Given the description of an element on the screen output the (x, y) to click on. 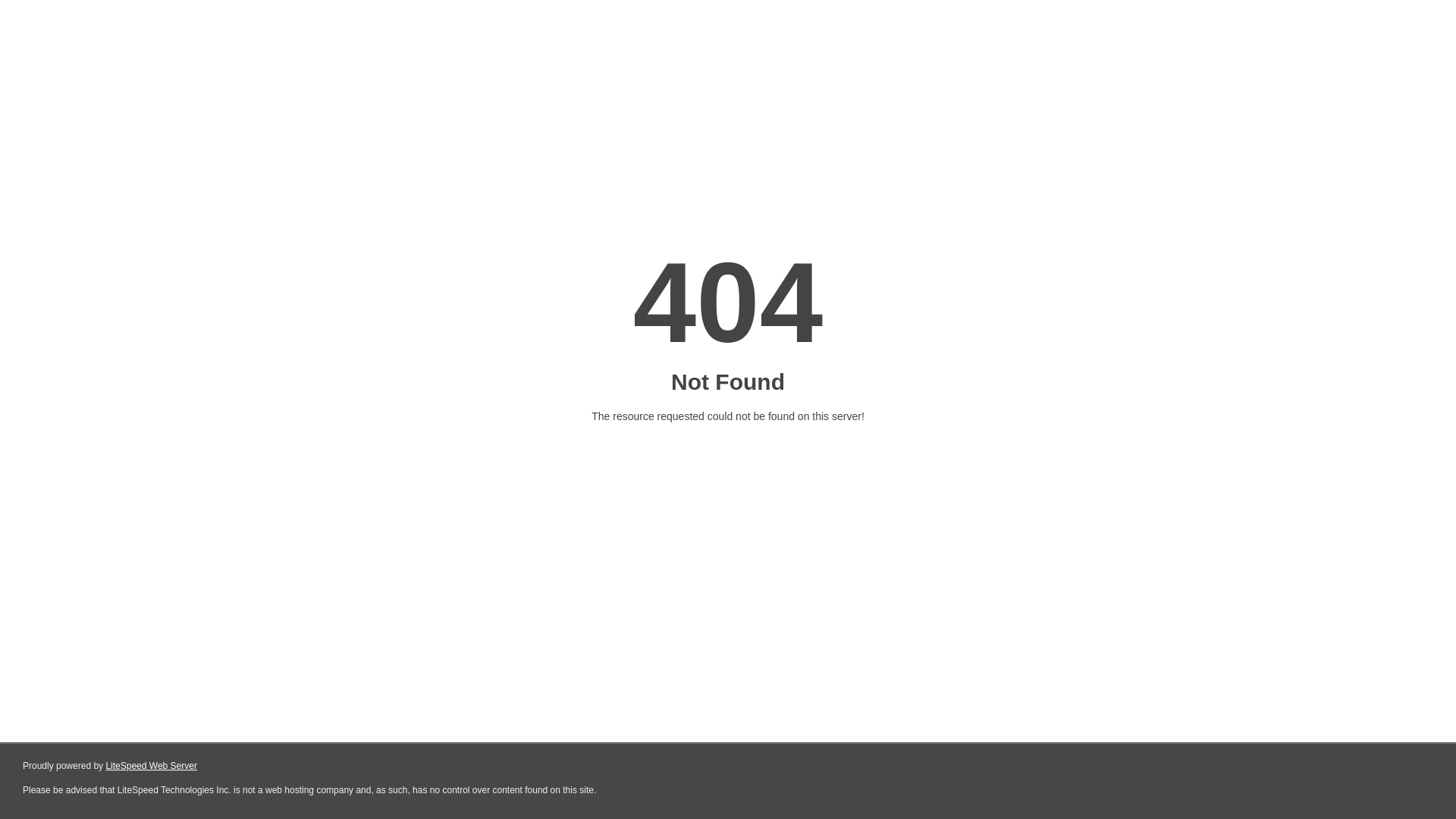
LiteSpeed Web Server Element type: text (151, 765)
